Given the description of an element on the screen output the (x, y) to click on. 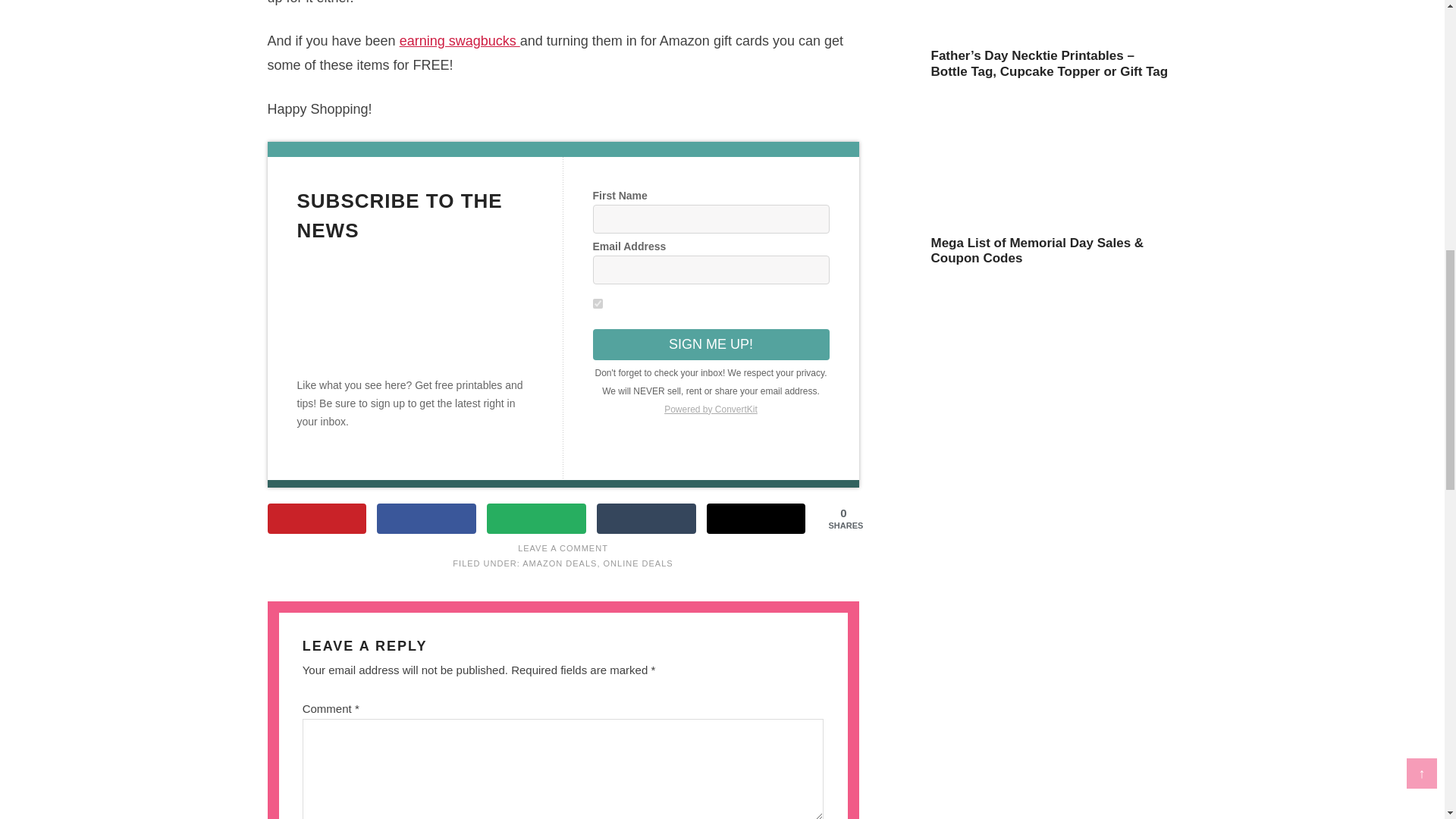
on (597, 303)
Send over email (536, 518)
Share on X (756, 518)
Share on Tumblr (645, 518)
Share on Facebook (426, 518)
Save to Pinterest (316, 518)
earning swagbucks (458, 40)
